Given the description of an element on the screen output the (x, y) to click on. 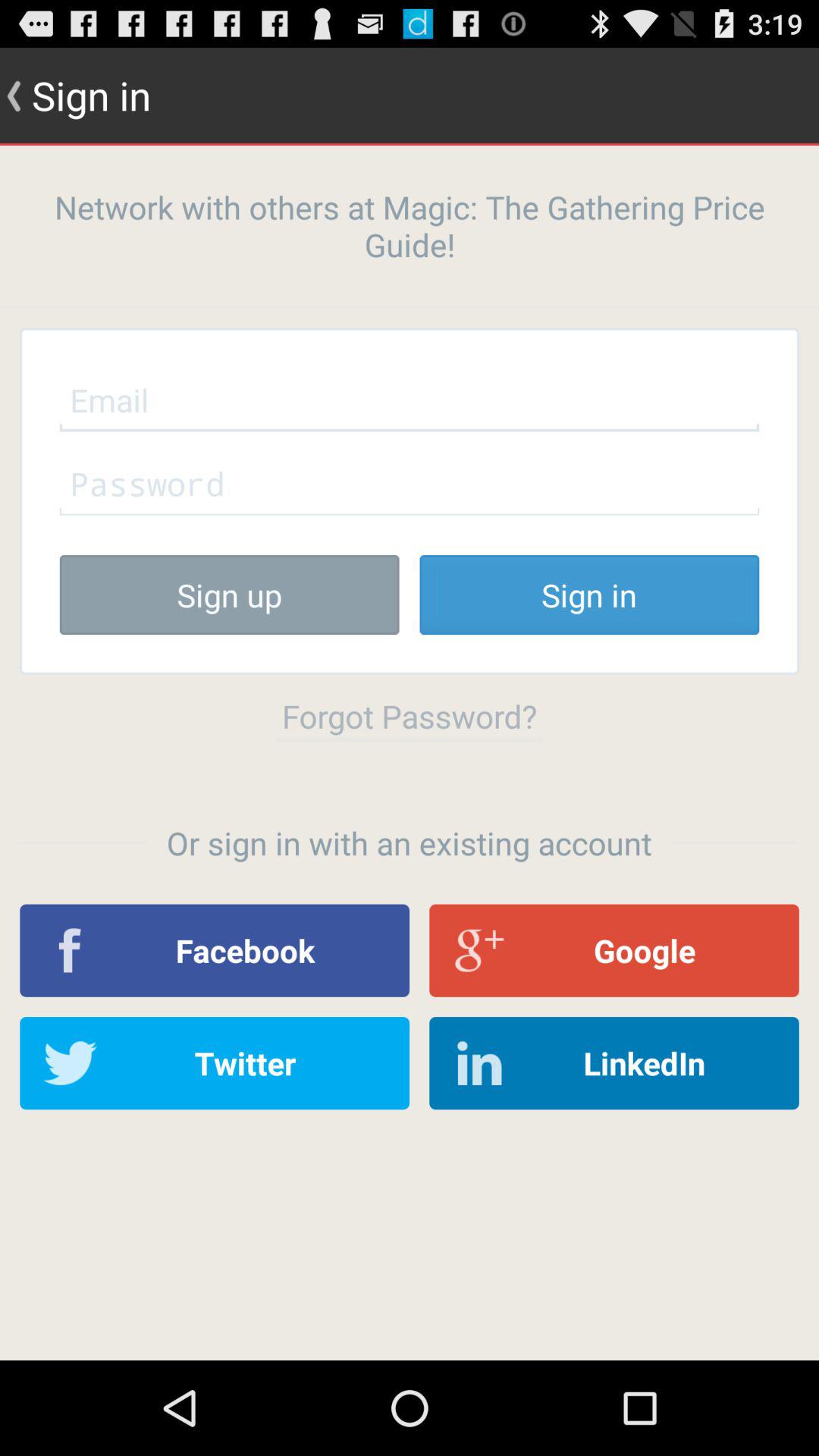
enter password (409, 483)
